Given the description of an element on the screen output the (x, y) to click on. 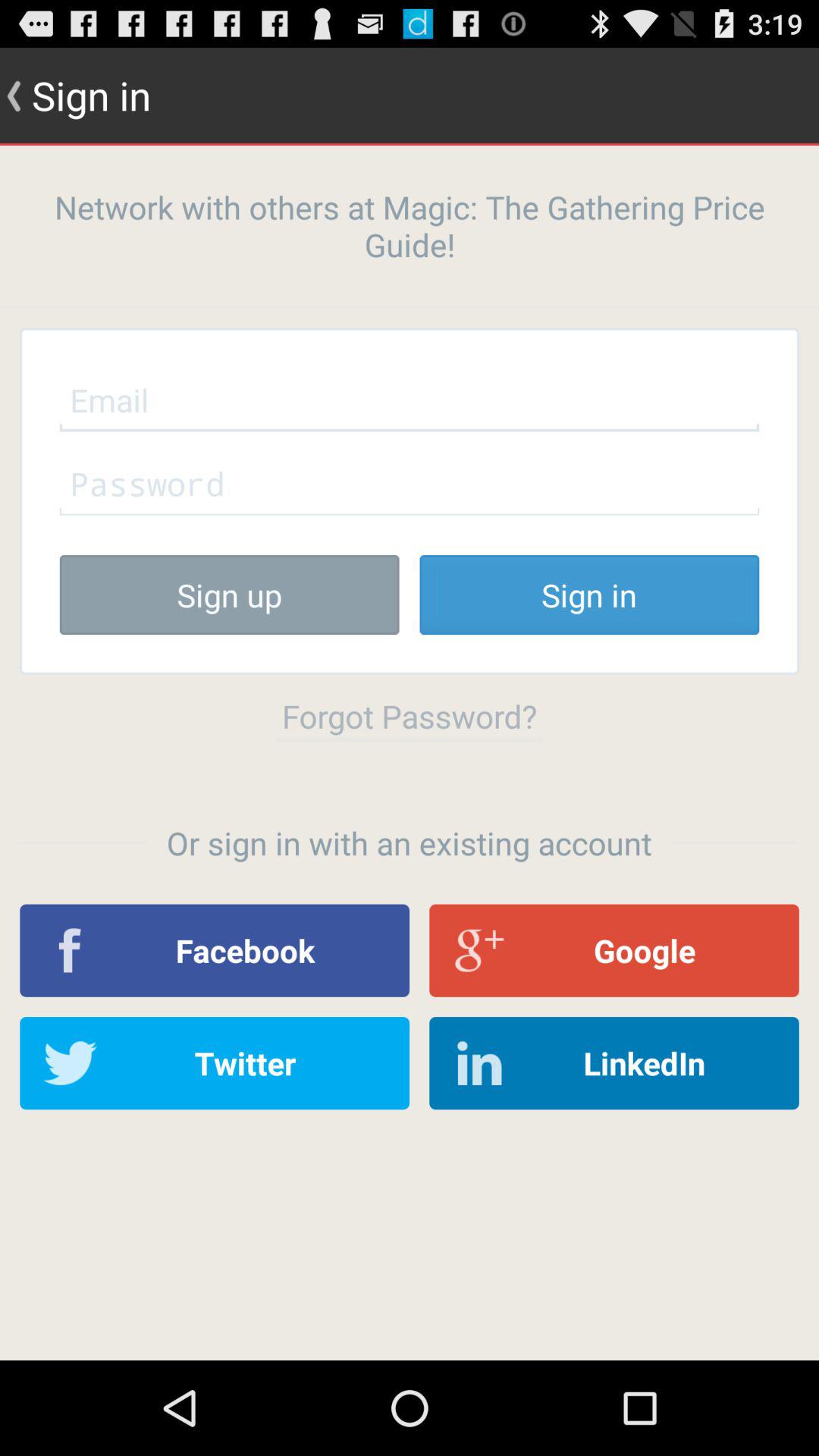
enter password (409, 483)
